Given the description of an element on the screen output the (x, y) to click on. 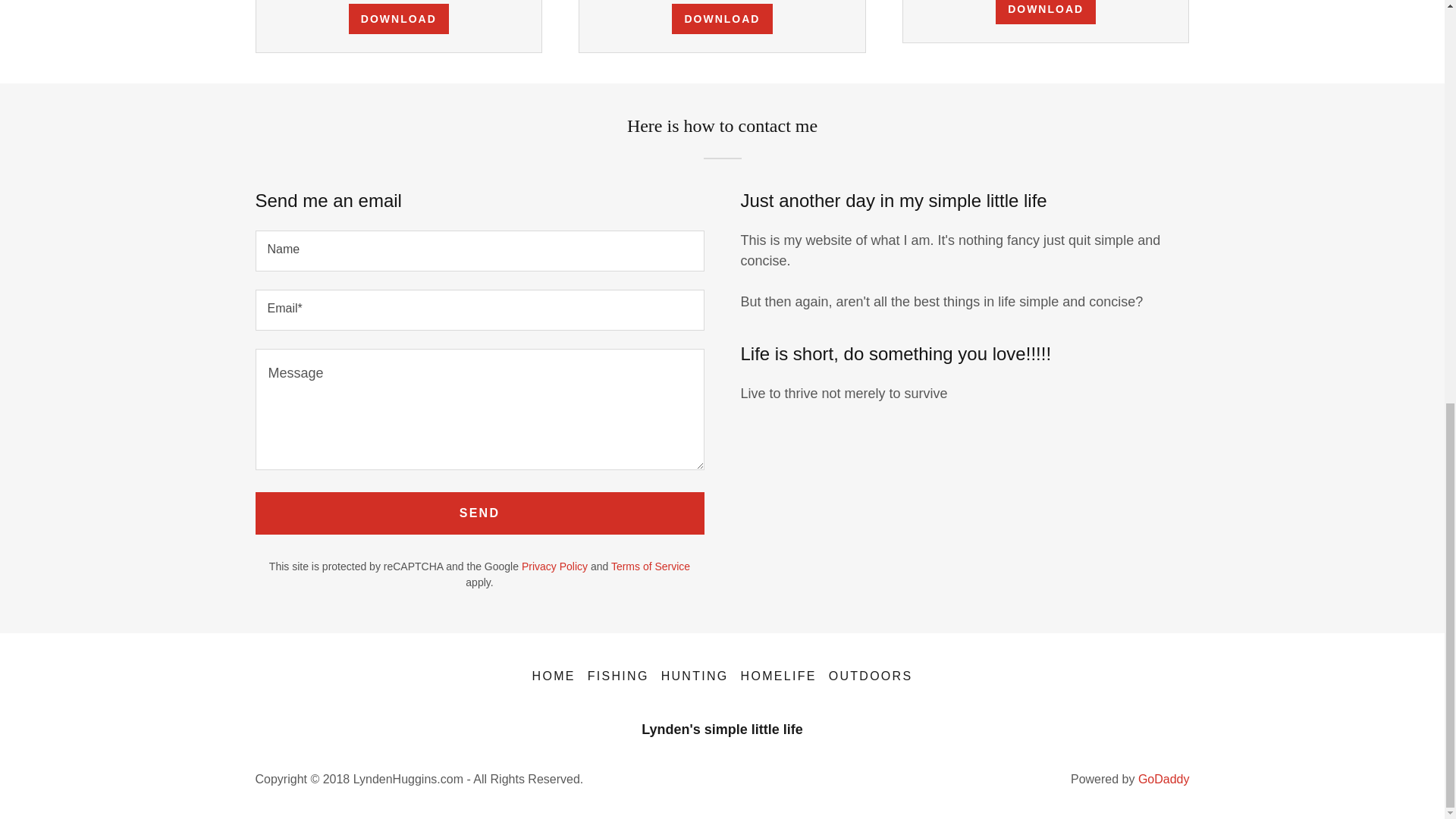
DOWNLOAD (1045, 12)
HOMELIFE (778, 676)
DOWNLOAD (398, 19)
HUNTING (695, 676)
GoDaddy (1163, 779)
DOWNLOAD (721, 19)
FISHING (617, 676)
HOME (552, 676)
OUTDOORS (870, 676)
Privacy Policy (554, 566)
